Given the description of an element on the screen output the (x, y) to click on. 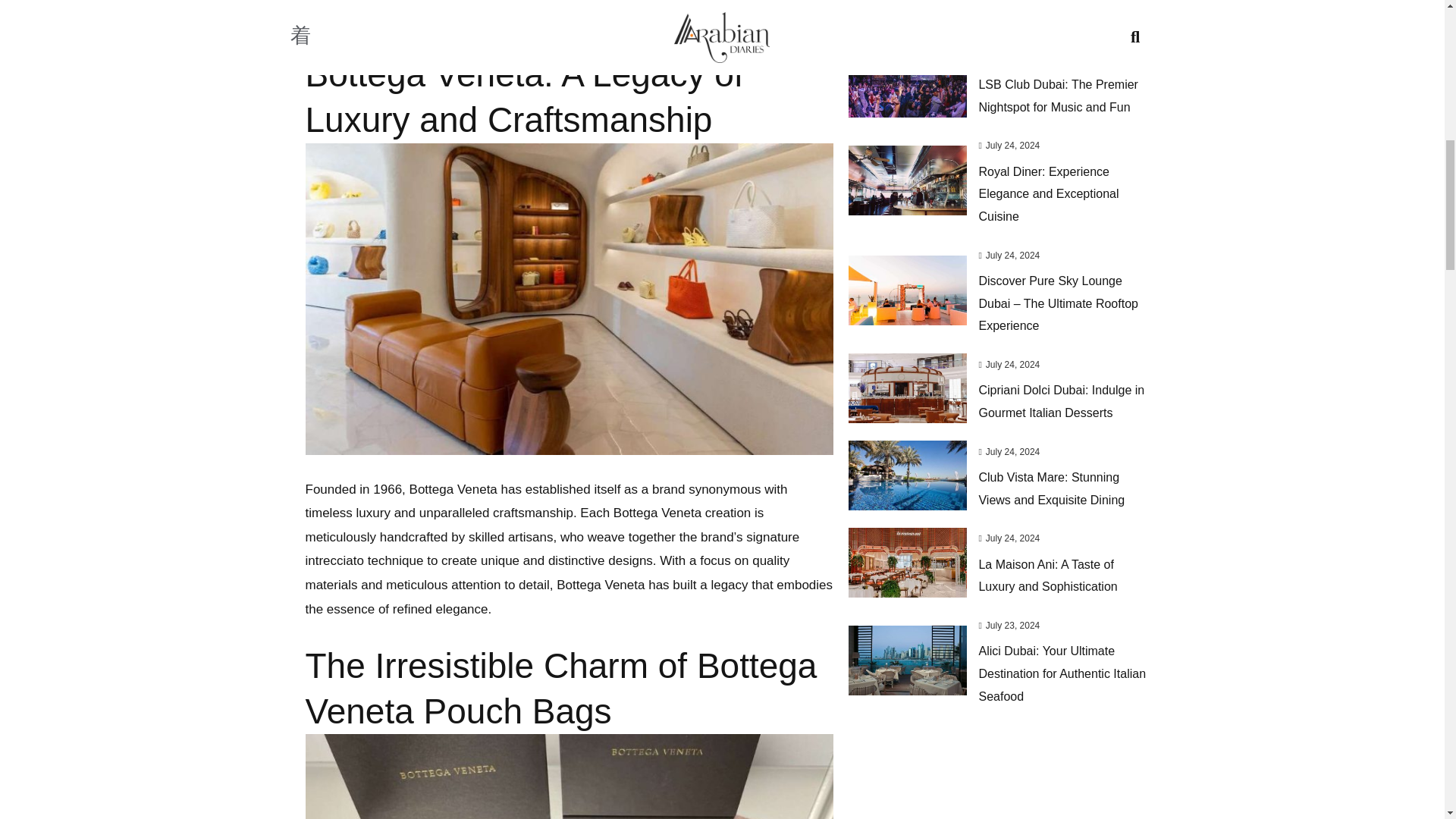
Conclusion (350, 21)
